Given the description of an element on the screen output the (x, y) to click on. 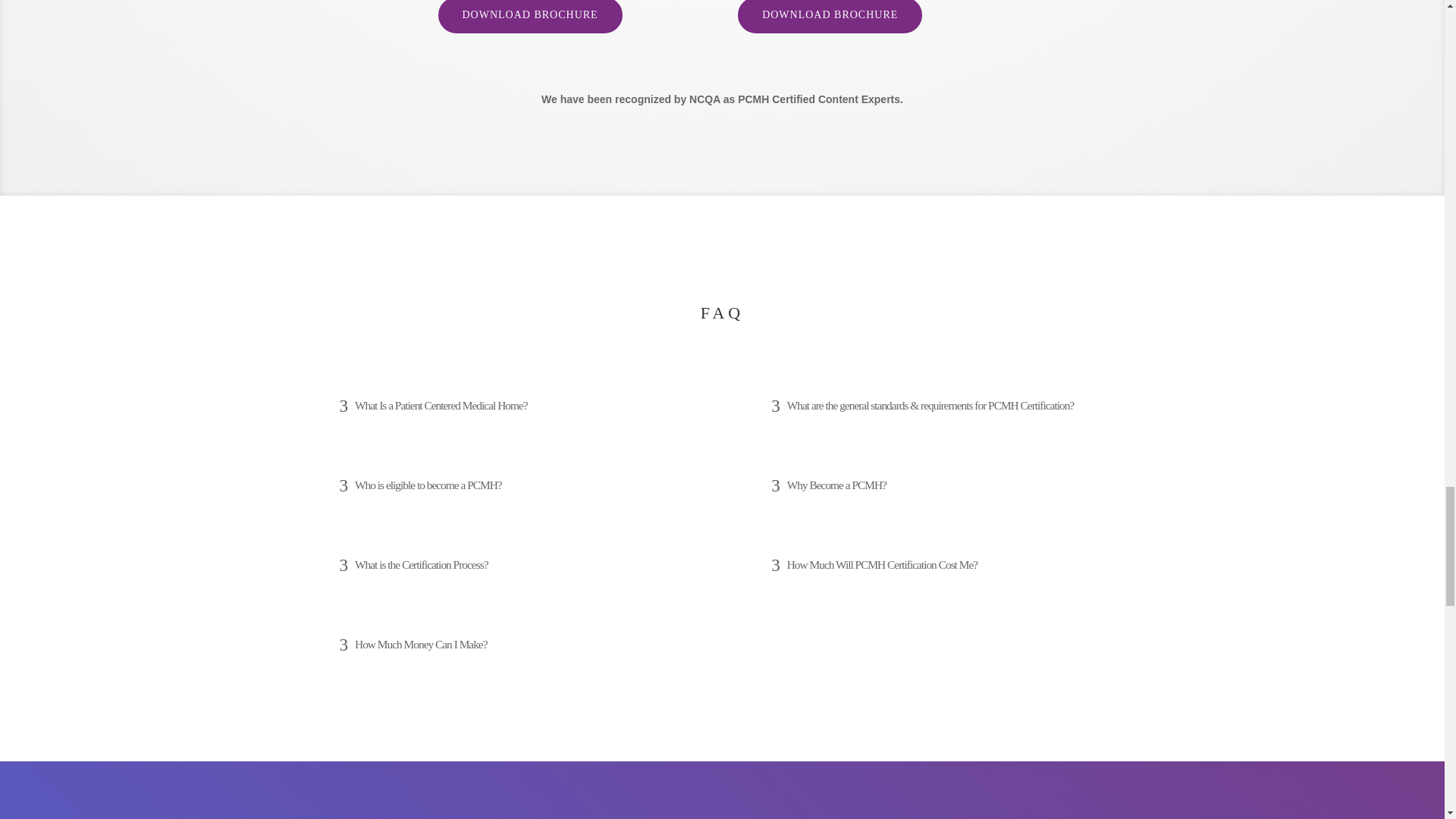
DOWNLOAD BROCHURE (530, 16)
DOWNLOAD BROCHURE (829, 16)
